Given the description of an element on the screen output the (x, y) to click on. 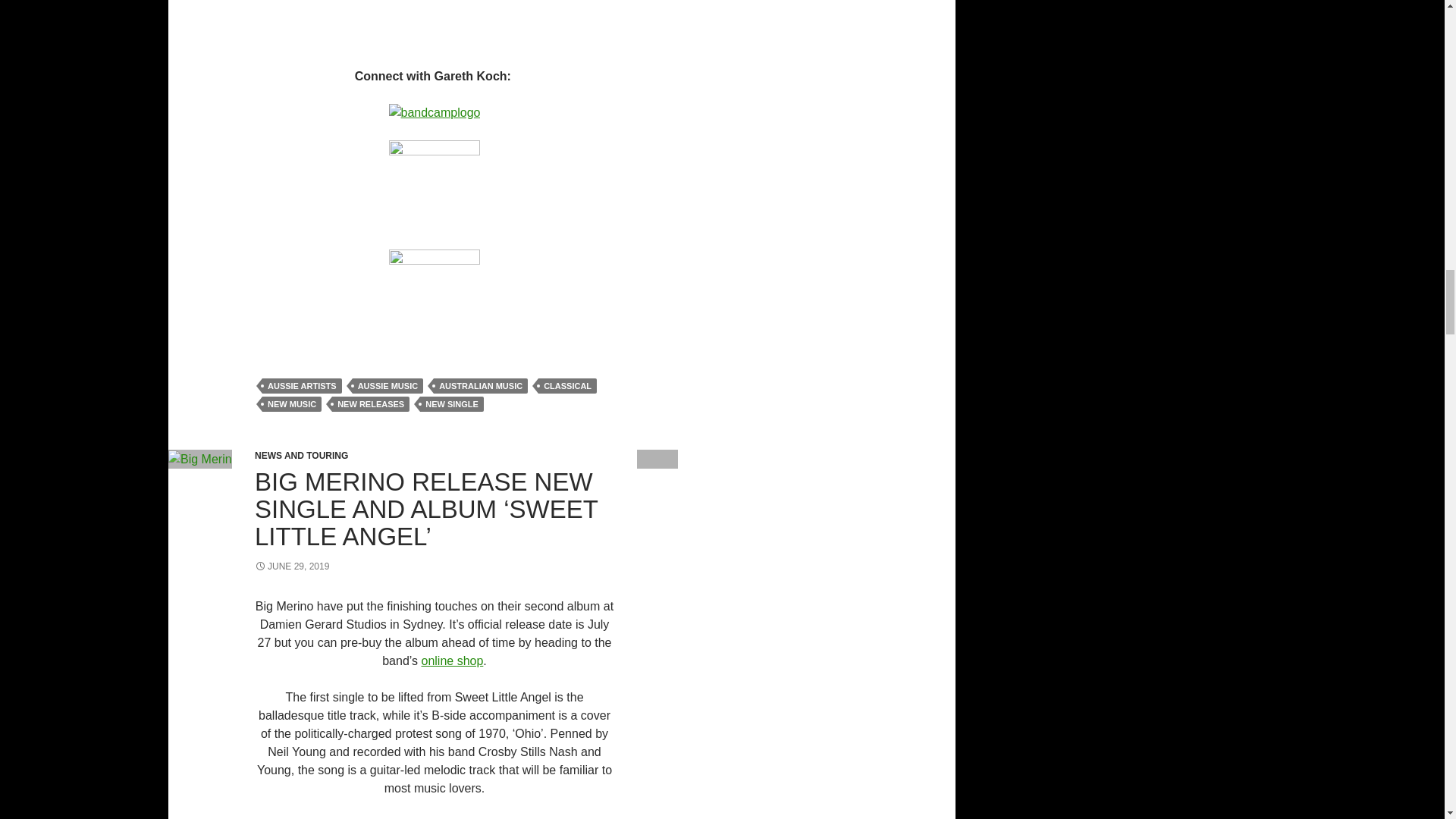
AUSSIE MUSIC (387, 385)
NEW RELEASES (370, 403)
AUSSIE ARTISTS (302, 385)
NEW MUSIC (291, 403)
AUSTRALIAN MUSIC (480, 385)
CLASSICAL (567, 385)
NEW SINGLE (451, 403)
